Given the description of an element on the screen output the (x, y) to click on. 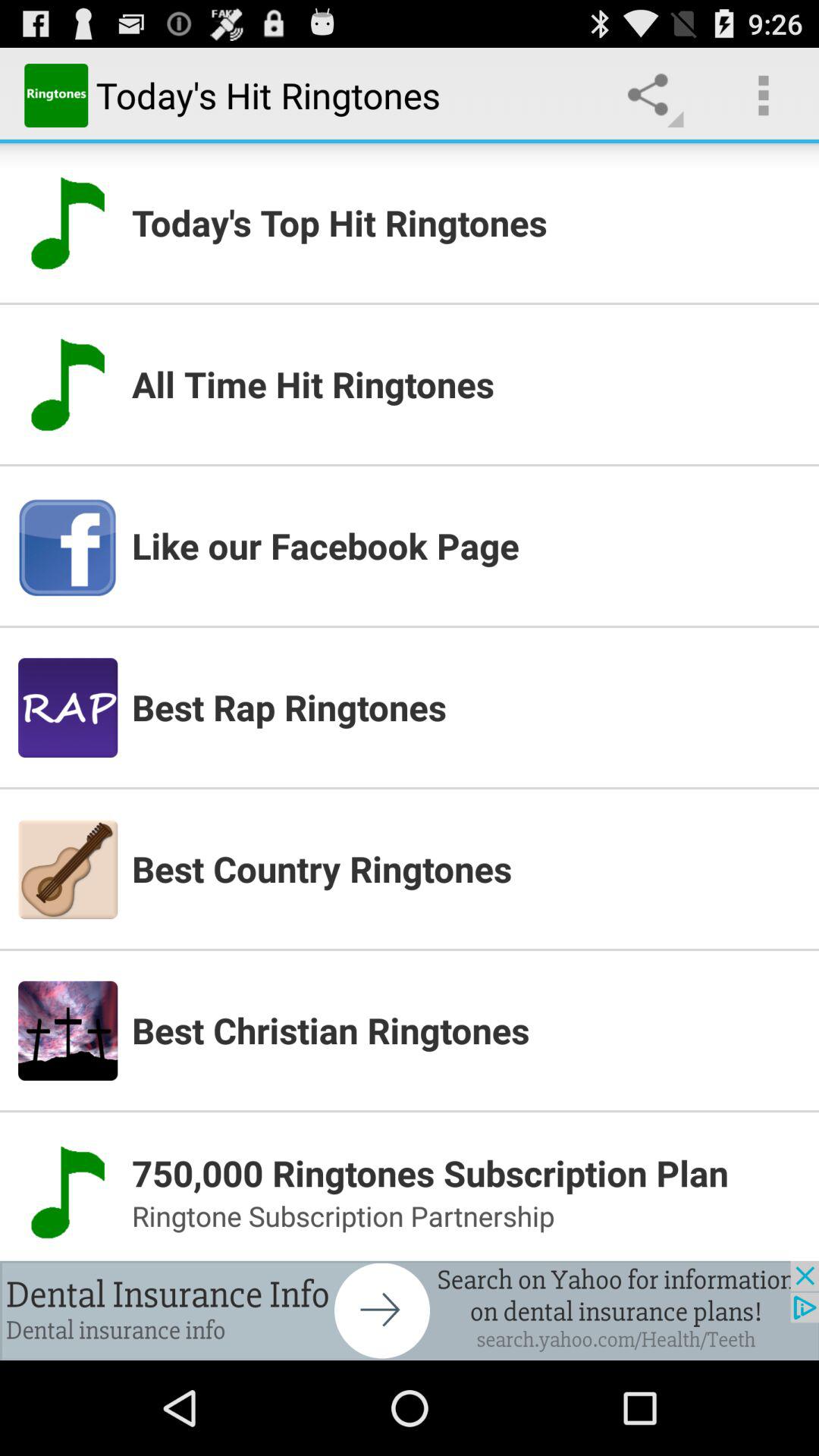
connect to advertisement (409, 1310)
